Given the description of an element on the screen output the (x, y) to click on. 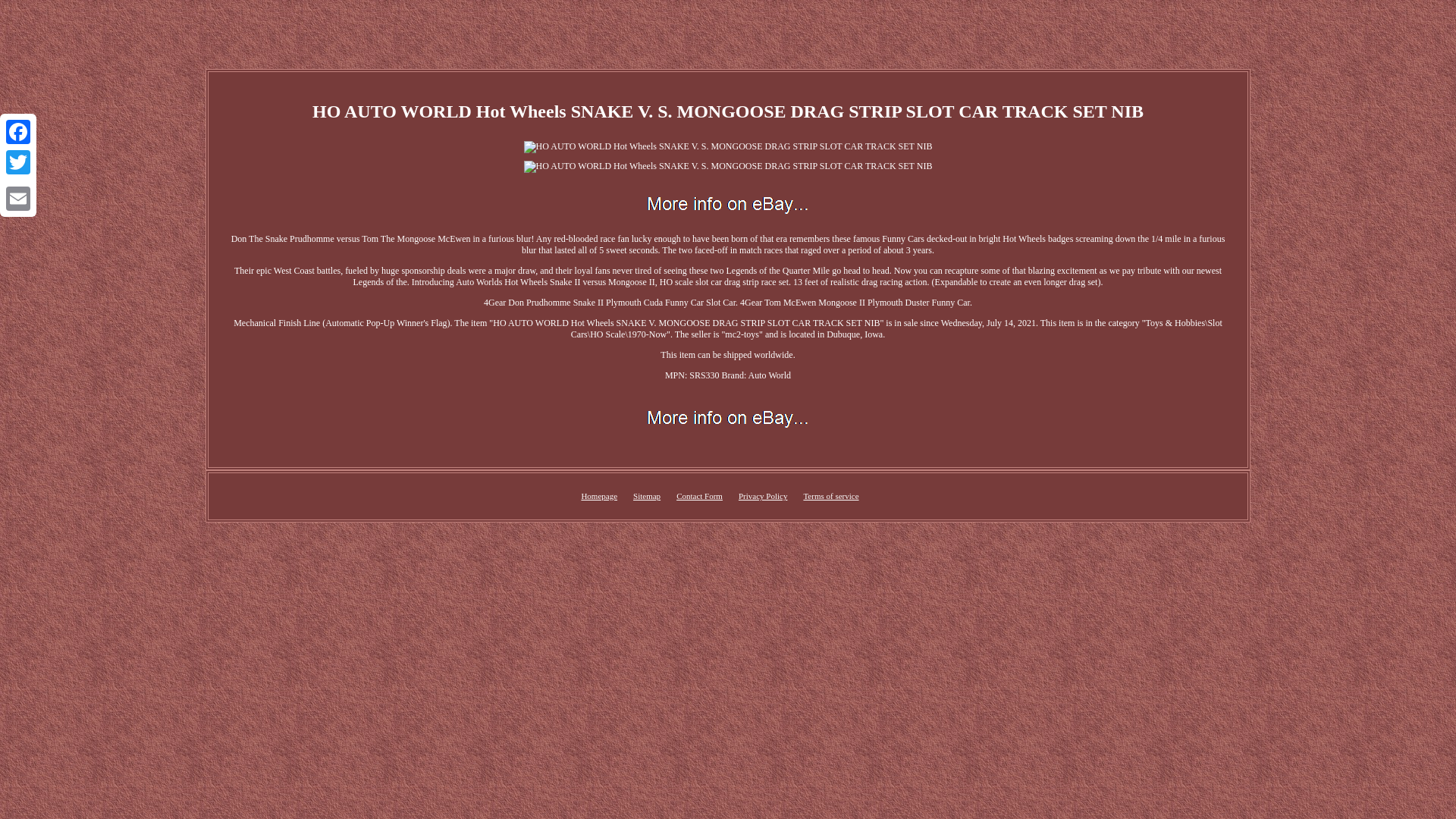
Email (17, 198)
Twitter (17, 162)
Facebook (17, 132)
